Given the description of an element on the screen output the (x, y) to click on. 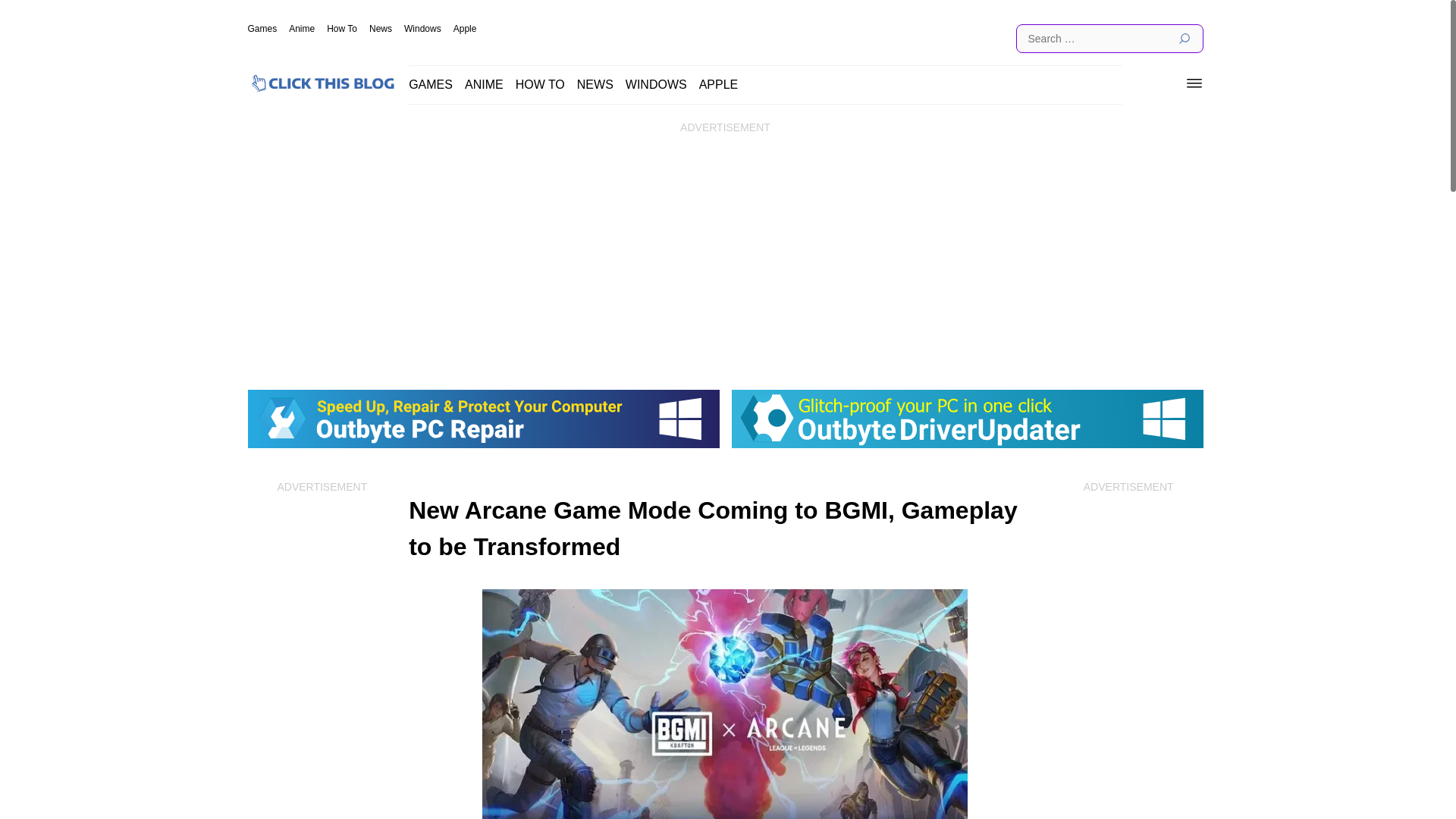
HOW TO (539, 83)
NEWS (594, 83)
GAMES (430, 83)
Apple (464, 28)
Anime (301, 28)
ANIME (483, 83)
Advertisement (321, 659)
WINDOWS (656, 83)
How To (341, 28)
News (380, 28)
APPLE (718, 83)
Games (261, 28)
Windows (422, 28)
